Given the description of an element on the screen output the (x, y) to click on. 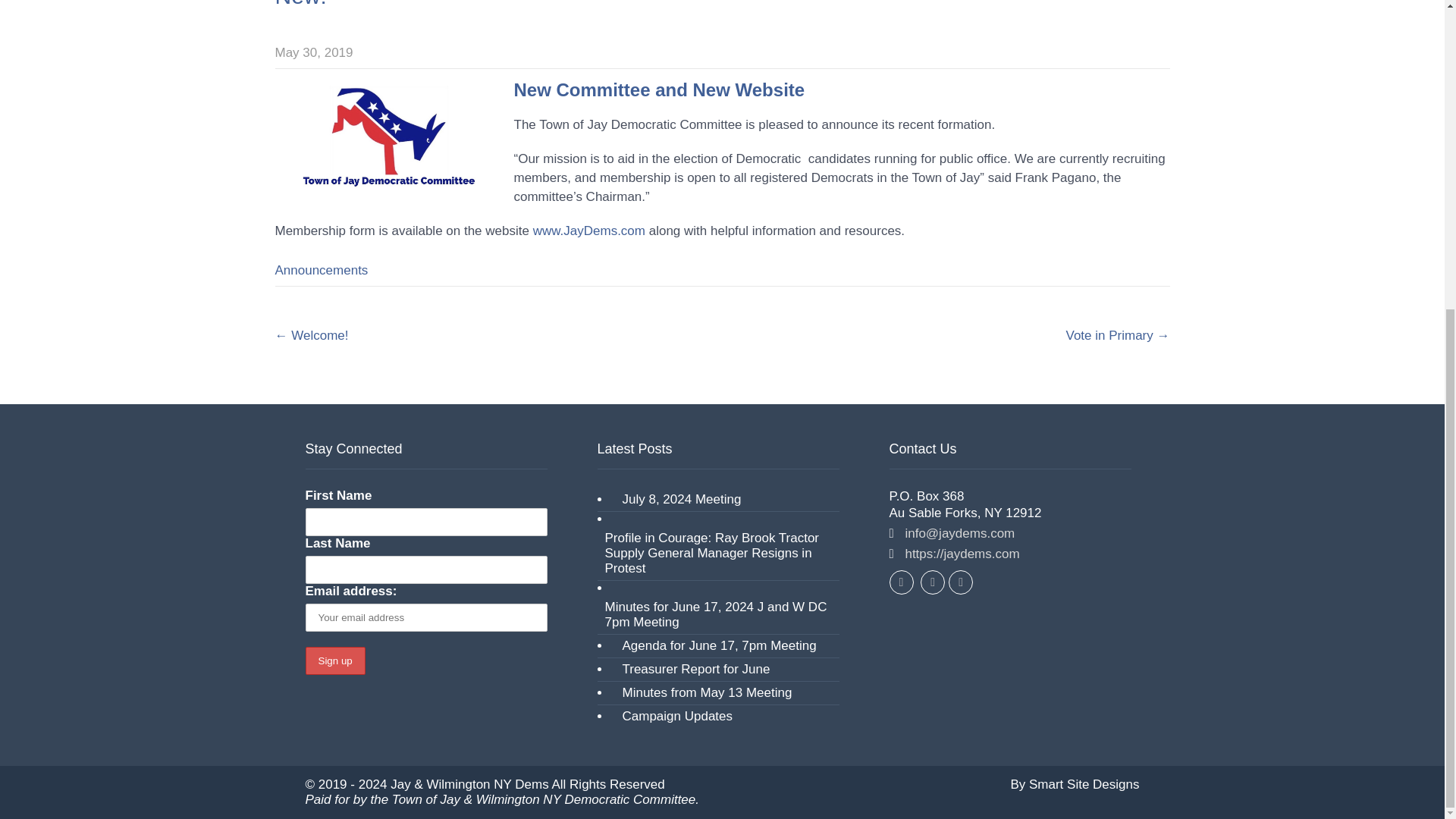
twitter (932, 582)
Sign up (334, 660)
Campaign Updates (673, 716)
Minutes from May 13 Meeting (703, 692)
instagram (960, 582)
Announcements (321, 269)
facebook (900, 582)
Minutes for June 17, 2024 J and W DC 7pm Meeting (718, 614)
Agenda for June 17, 7pm Meeting (714, 645)
